Given the description of an element on the screen output the (x, y) to click on. 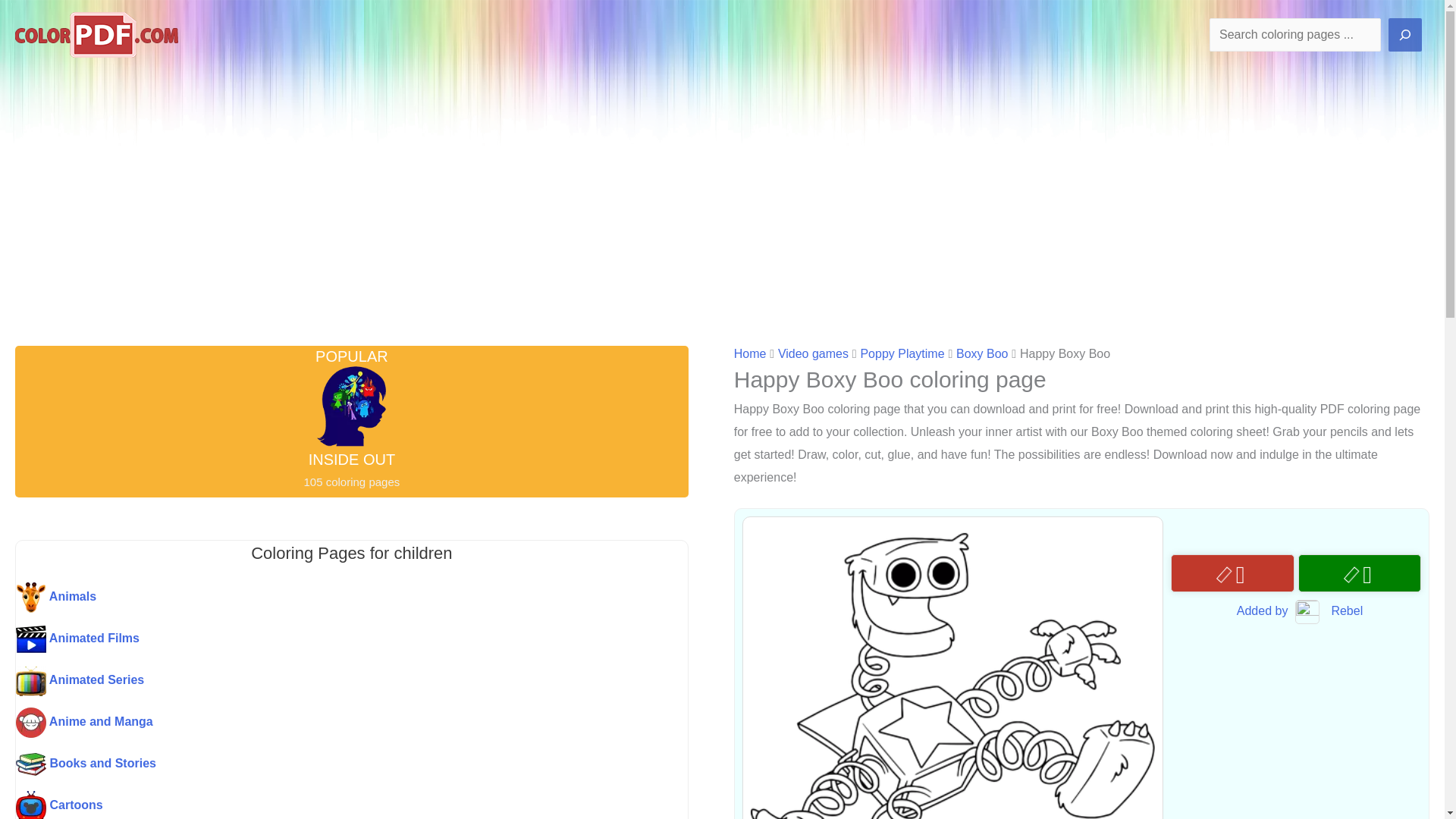
Animated Films (318, 639)
Animated Films coloring pages (318, 639)
Cartoons (318, 805)
Animals coloring pages (318, 597)
Cartoons coloring pages (318, 805)
Anime and Manga coloring pages (318, 722)
Animated Series (318, 680)
Anime and Manga (318, 722)
Books and Stories coloring pages (318, 764)
Animals (318, 597)
